Given the description of an element on the screen output the (x, y) to click on. 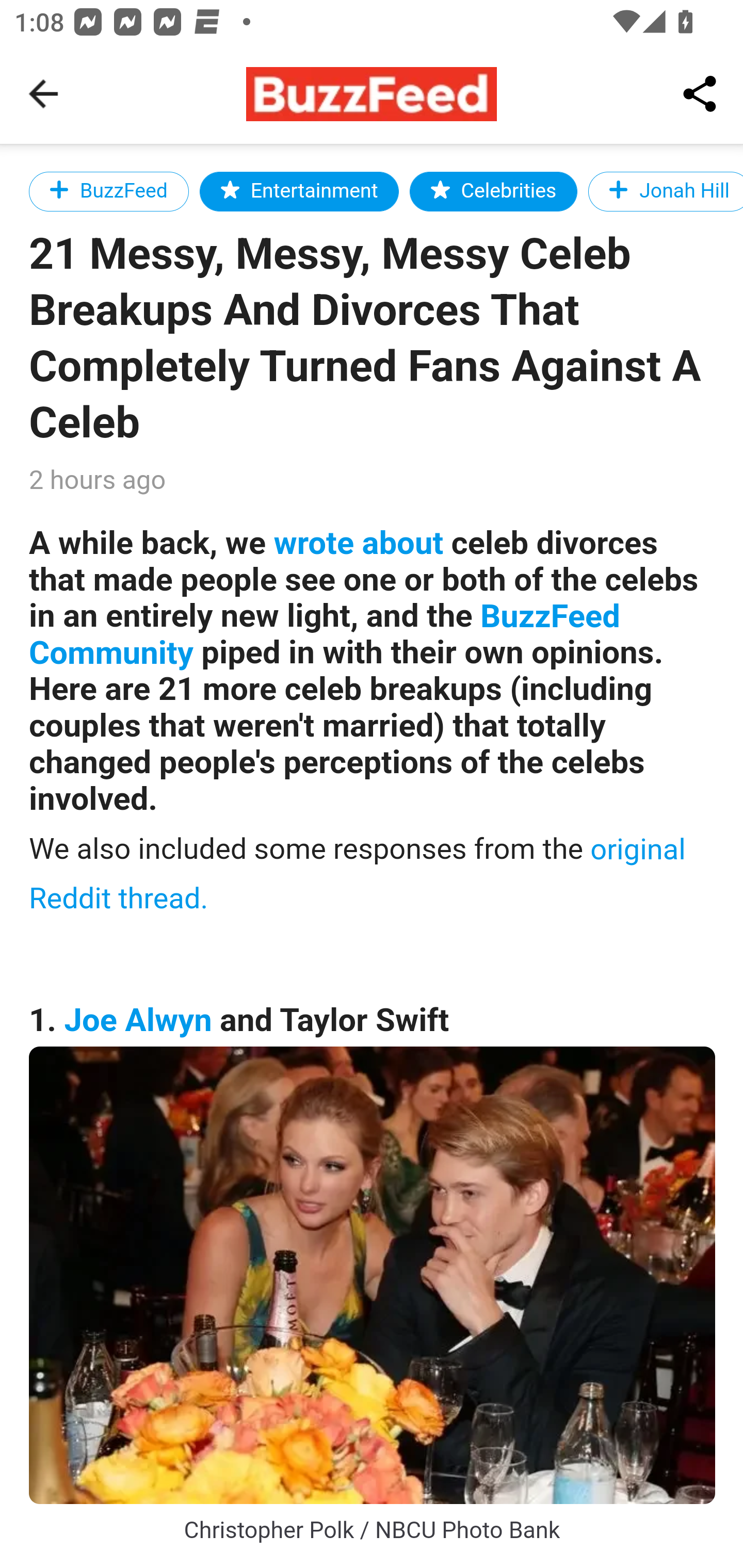
BuzzFeed (108, 191)
Entertainment (299, 191)
Celebrities (492, 191)
Jonah Hill (664, 191)
wrote about (358, 542)
BuzzFeed Community (324, 635)
original Reddit thread. (357, 872)
Joe Alwyn (138, 1020)
